Given the description of an element on the screen output the (x, y) to click on. 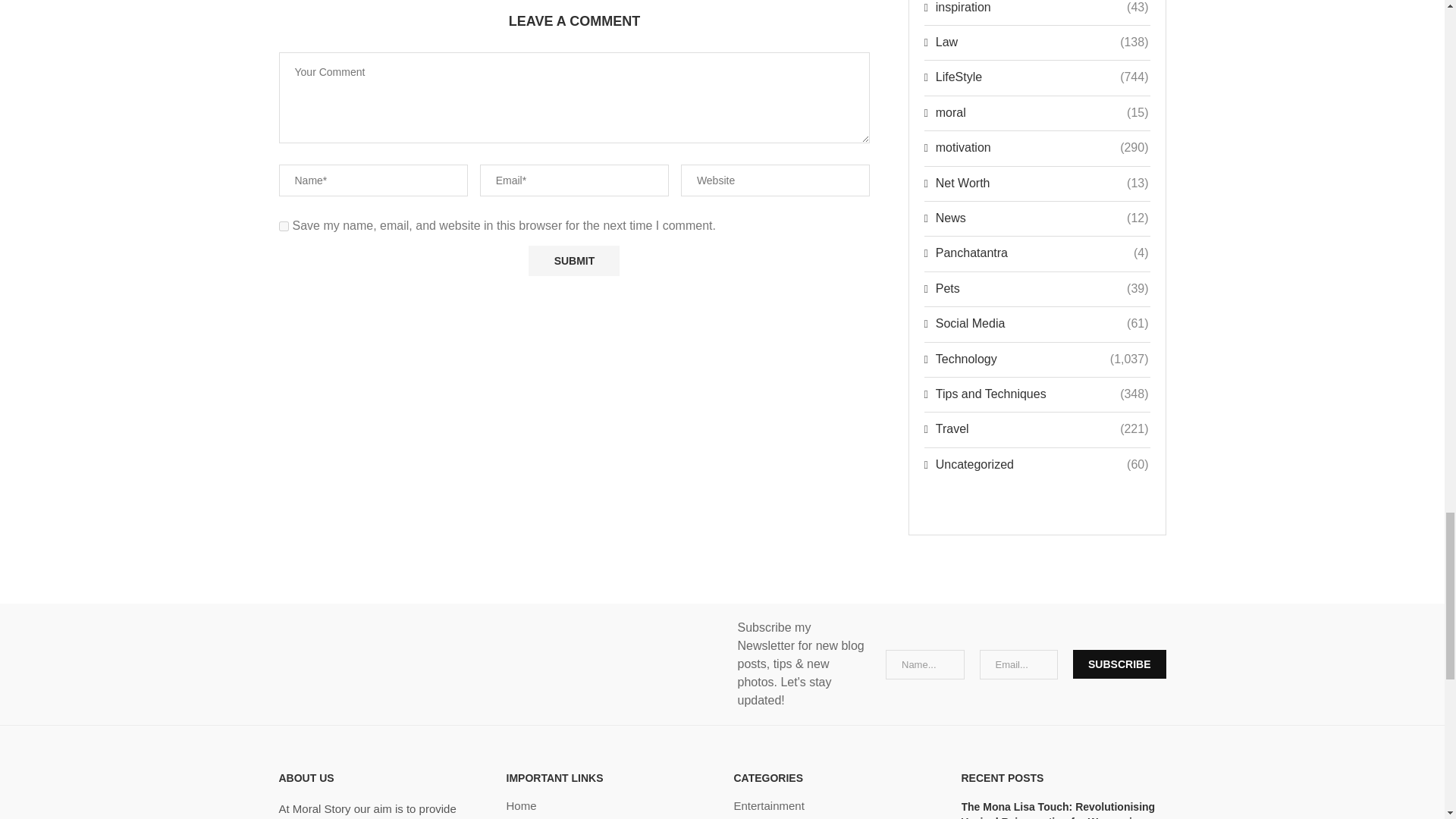
Subscribe (1119, 664)
Submit (574, 260)
yes (283, 225)
